Given the description of an element on the screen output the (x, y) to click on. 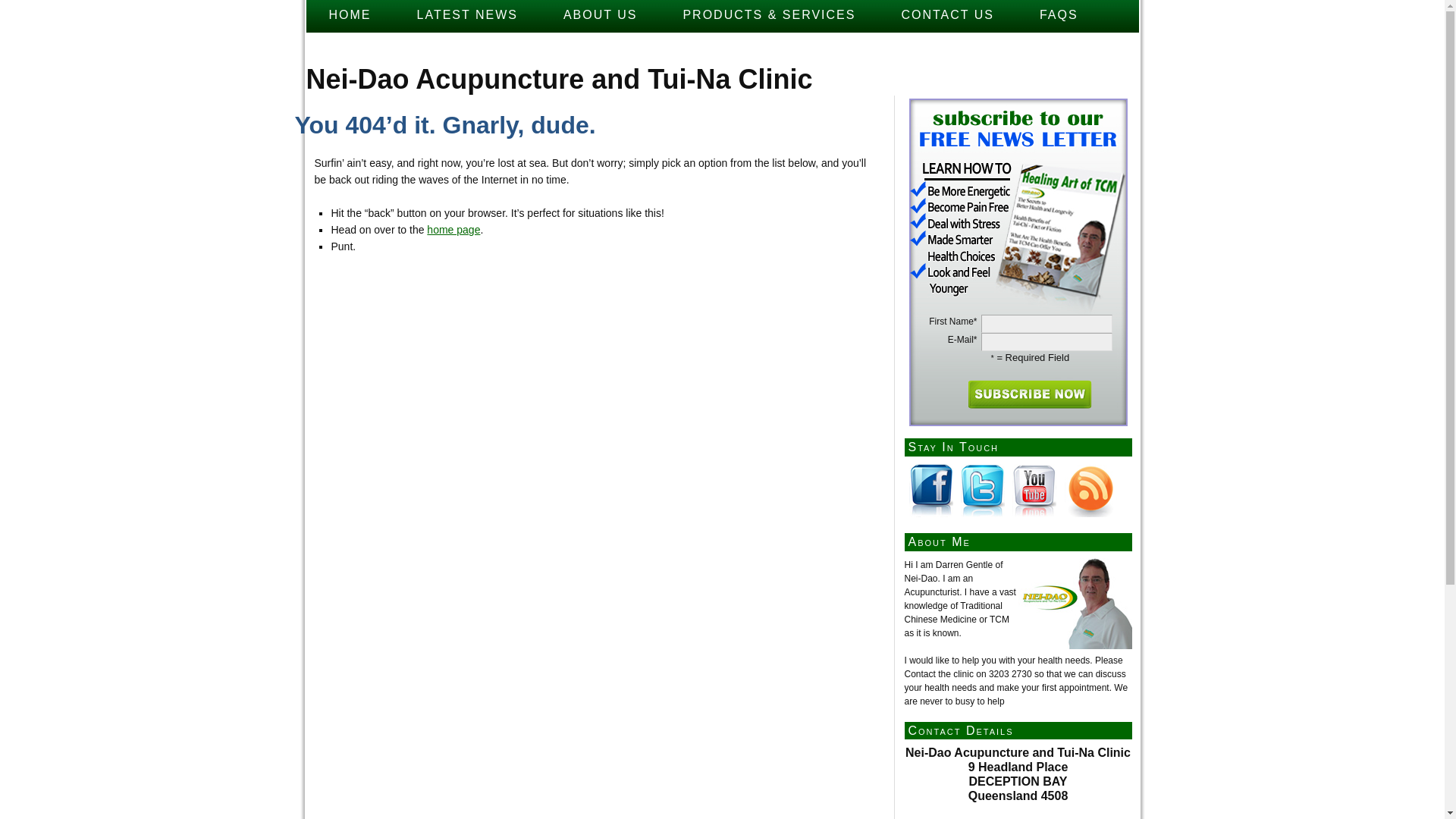
home page Element type: text (453, 229)
Nei-Dao Acupuncture and Tui-Na Clinic Element type: text (559, 78)
HELP Element type: text (348, 47)
